Given the description of an element on the screen output the (x, y) to click on. 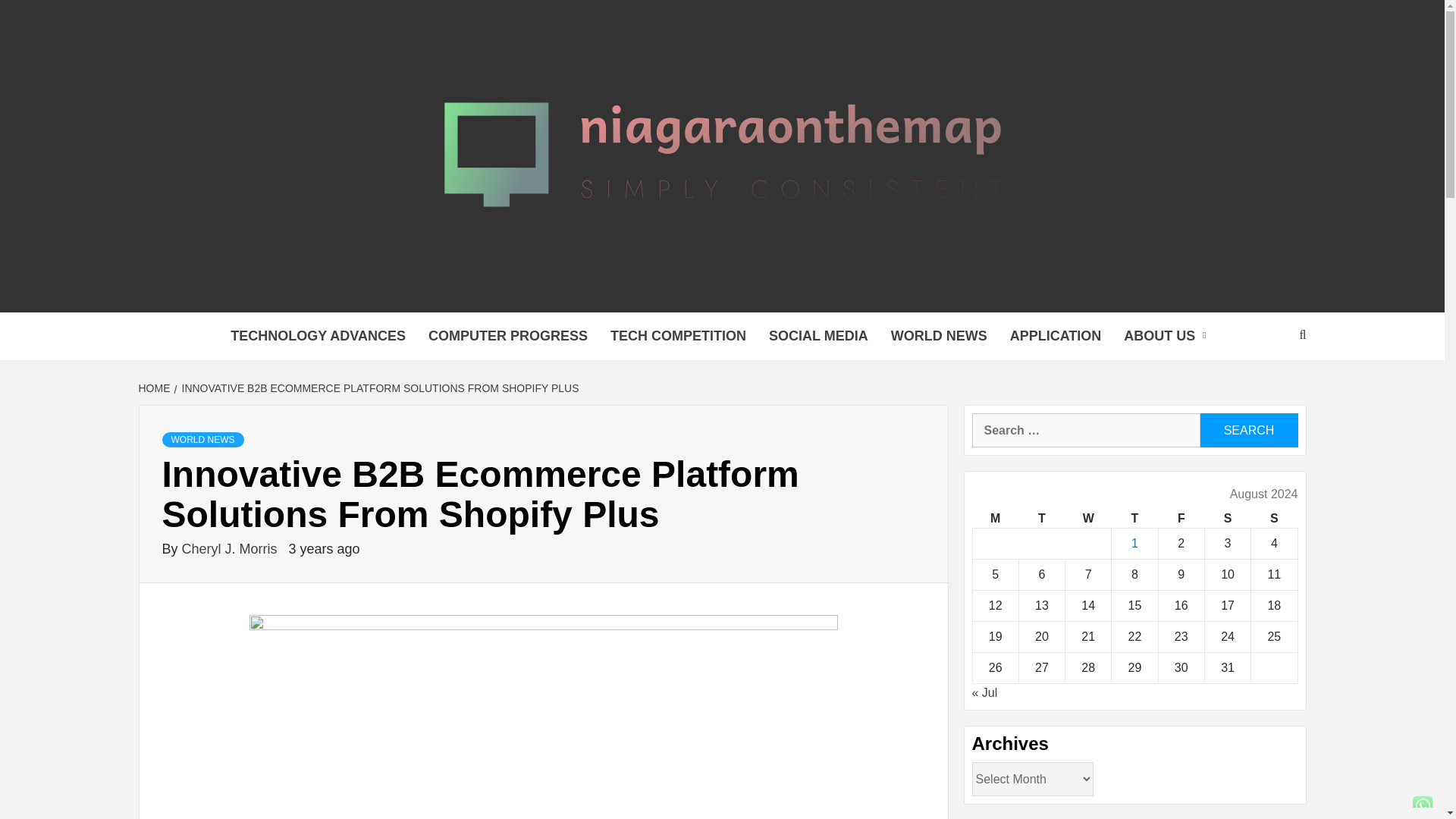
Sunday (1273, 518)
WORLD NEWS (938, 336)
Friday (1180, 518)
TECH COMPETITION (677, 336)
NIAGARAONTHEMAP (535, 292)
Wednesday (1088, 518)
ABOUT US (1168, 336)
HOME (155, 387)
Search (1248, 430)
SOCIAL MEDIA (818, 336)
Thursday (1134, 518)
Saturday (1227, 518)
Tuesday (1040, 518)
WORLD NEWS (202, 439)
Monday (994, 518)
